Given the description of an element on the screen output the (x, y) to click on. 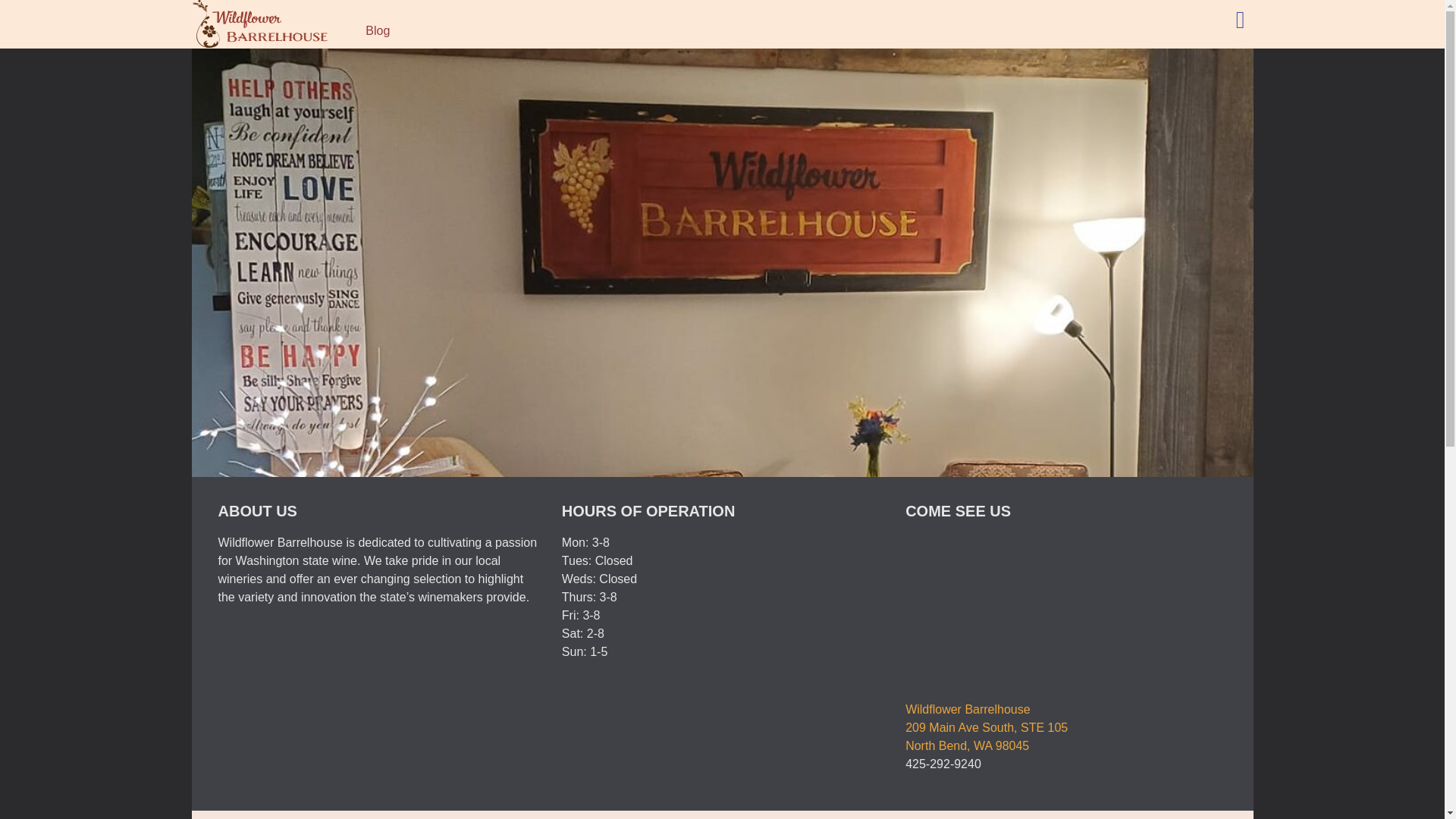
Blog (377, 30)
Wildflower Barrelhouse (1065, 609)
